Given the description of an element on the screen output the (x, y) to click on. 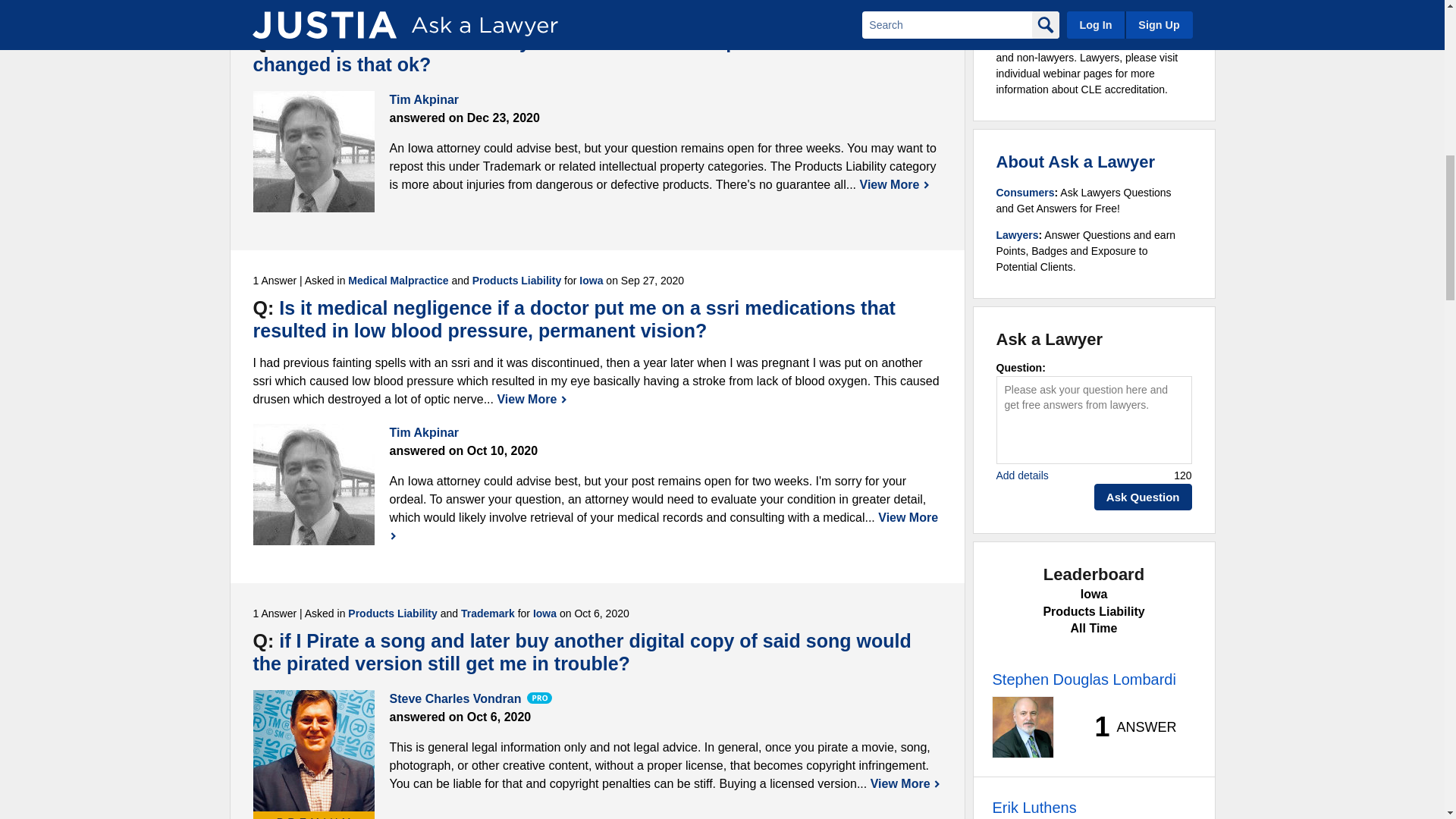
Ask a Lawyer - FAQs - Consumers (1024, 192)
Products Liability (391, 14)
Ask a Lawyer - Leaderboard - Lawyer Photo (1021, 726)
Tim Akpinar (313, 151)
Ask a Lawyer - Leaderboard - Lawyer Stats (1127, 727)
Tim Akpinar (313, 484)
Ask a Lawyer - Leaderboard - Lawyer Name (1082, 679)
Ask a Lawyer - FAQs - Lawyers (1017, 234)
Steve Charles Vondran (313, 750)
